Given the description of an element on the screen output the (x, y) to click on. 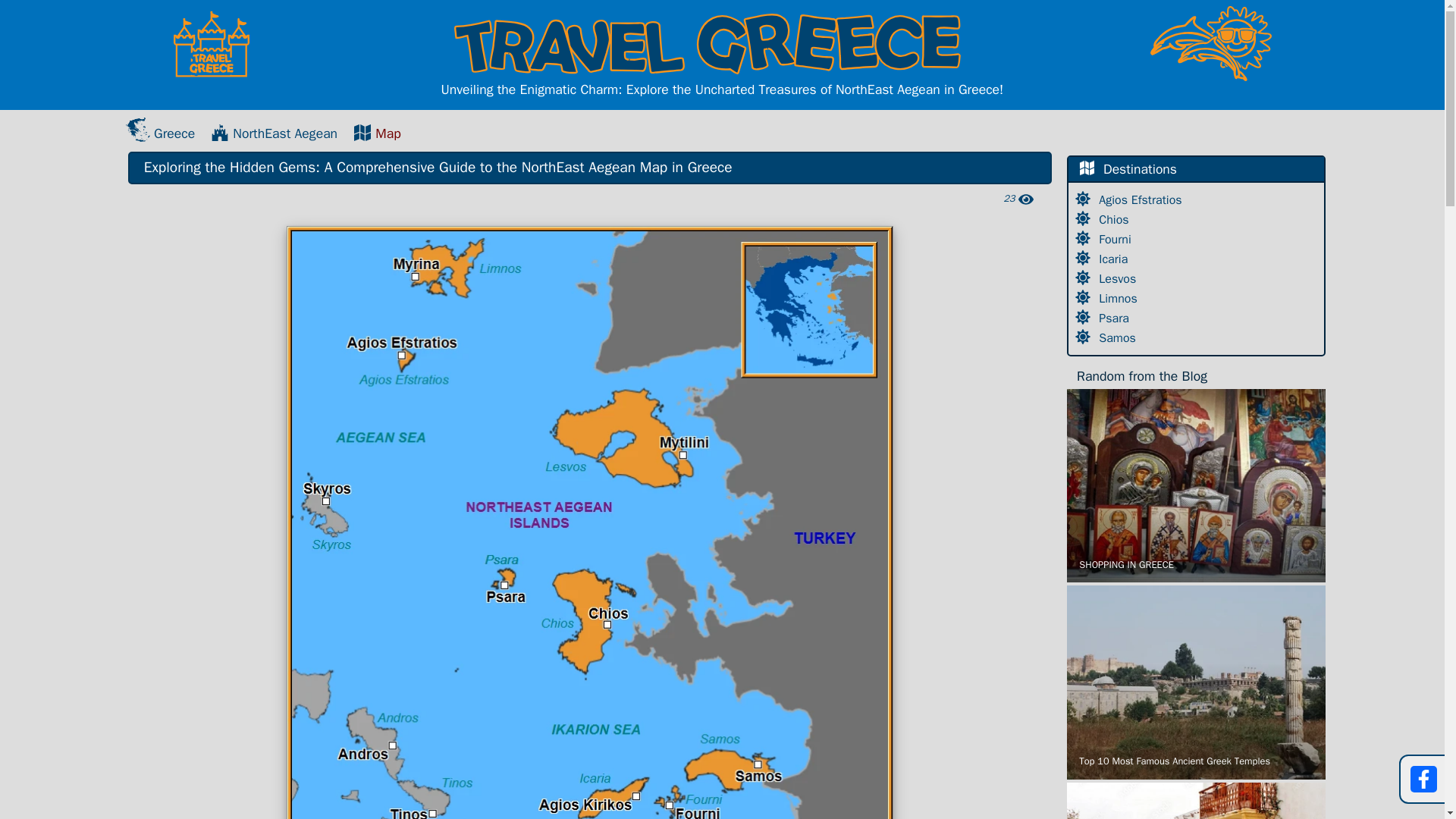
Top 10 Most Famous Ancient Greek Temples (1195, 682)
Greece (160, 133)
Chios (1115, 219)
NorthEast Aegean (274, 133)
Lesvos (1119, 278)
Top 10 Most Beautiful Villages in Greece (1195, 800)
Limnos (1120, 298)
Psara (1115, 318)
Samos (1119, 337)
Top 10 Most Beautiful Villages in Greece (1195, 800)
Icaria (1115, 258)
SHOPPING IN GREECE (1195, 486)
Top 10 Most Famous Ancient Greek Temples (1195, 682)
SHOPPING IN GREECE (1195, 486)
Agios Efstratios (1142, 200)
